Given the description of an element on the screen output the (x, y) to click on. 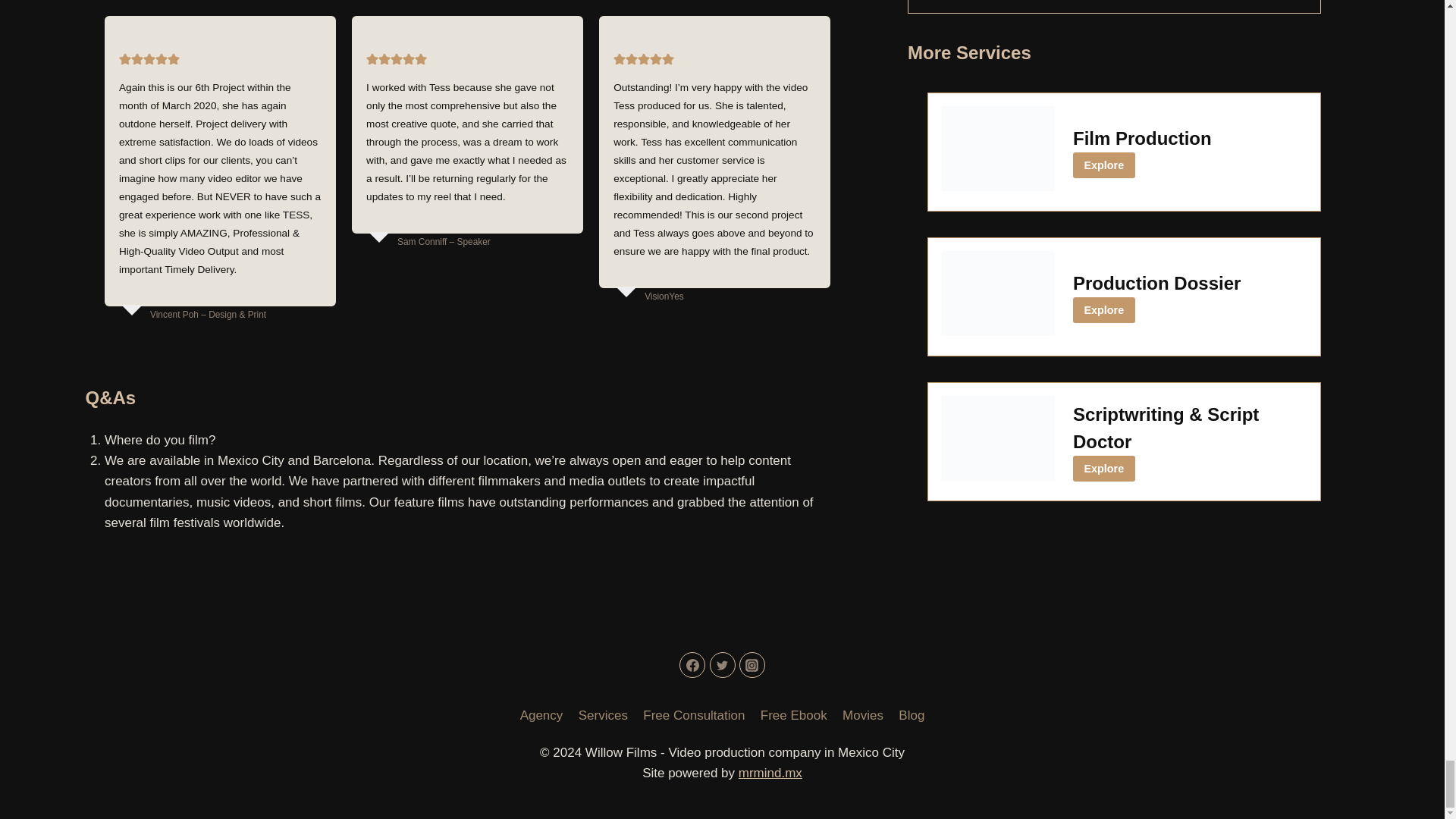
Services (603, 714)
Agency (541, 714)
Free Consultation (693, 714)
Movies (862, 714)
Free Ebook (793, 714)
